Given the description of an element on the screen output the (x, y) to click on. 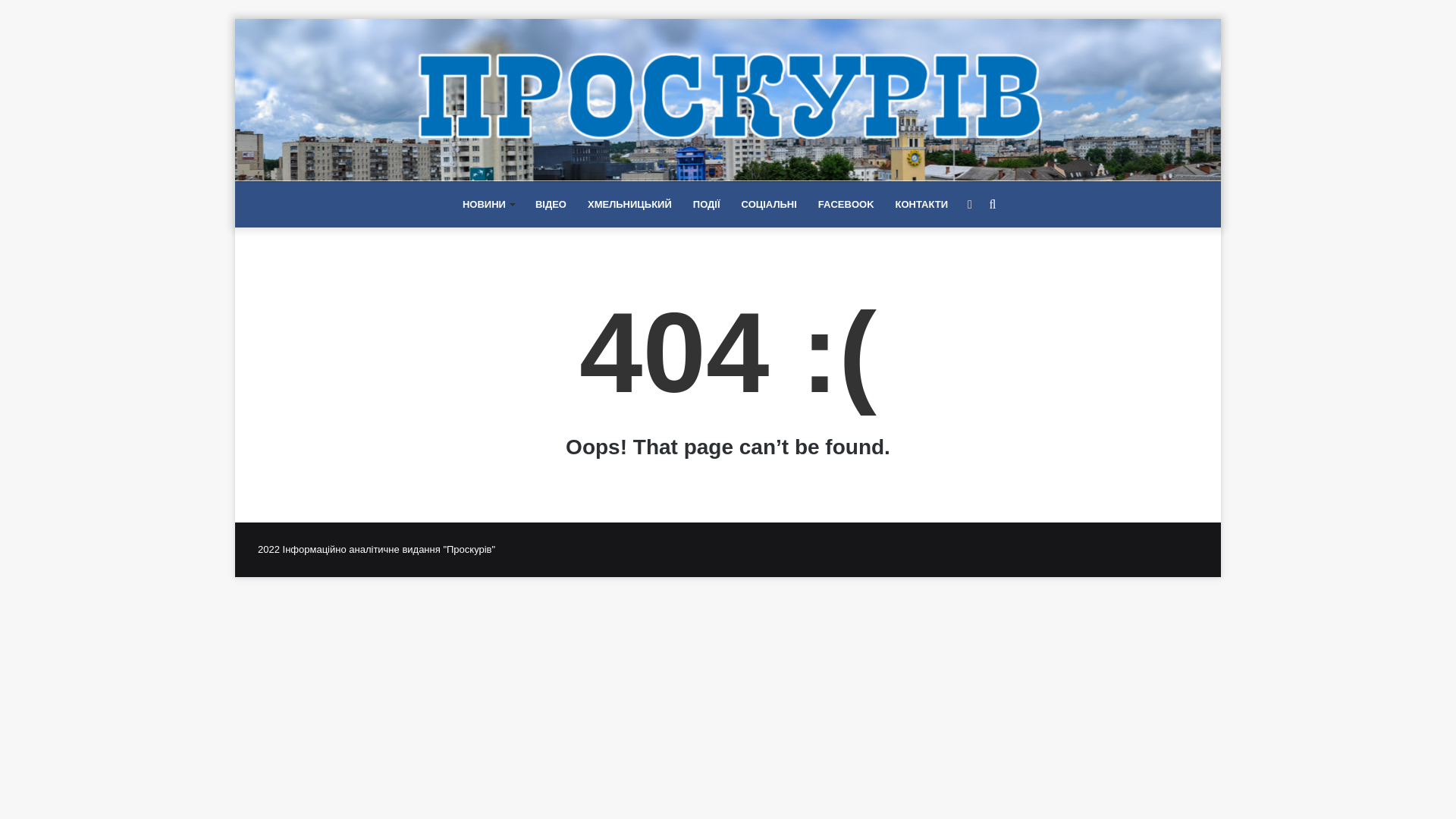
FACEBOOK (846, 204)
